Given the description of an element on the screen output the (x, y) to click on. 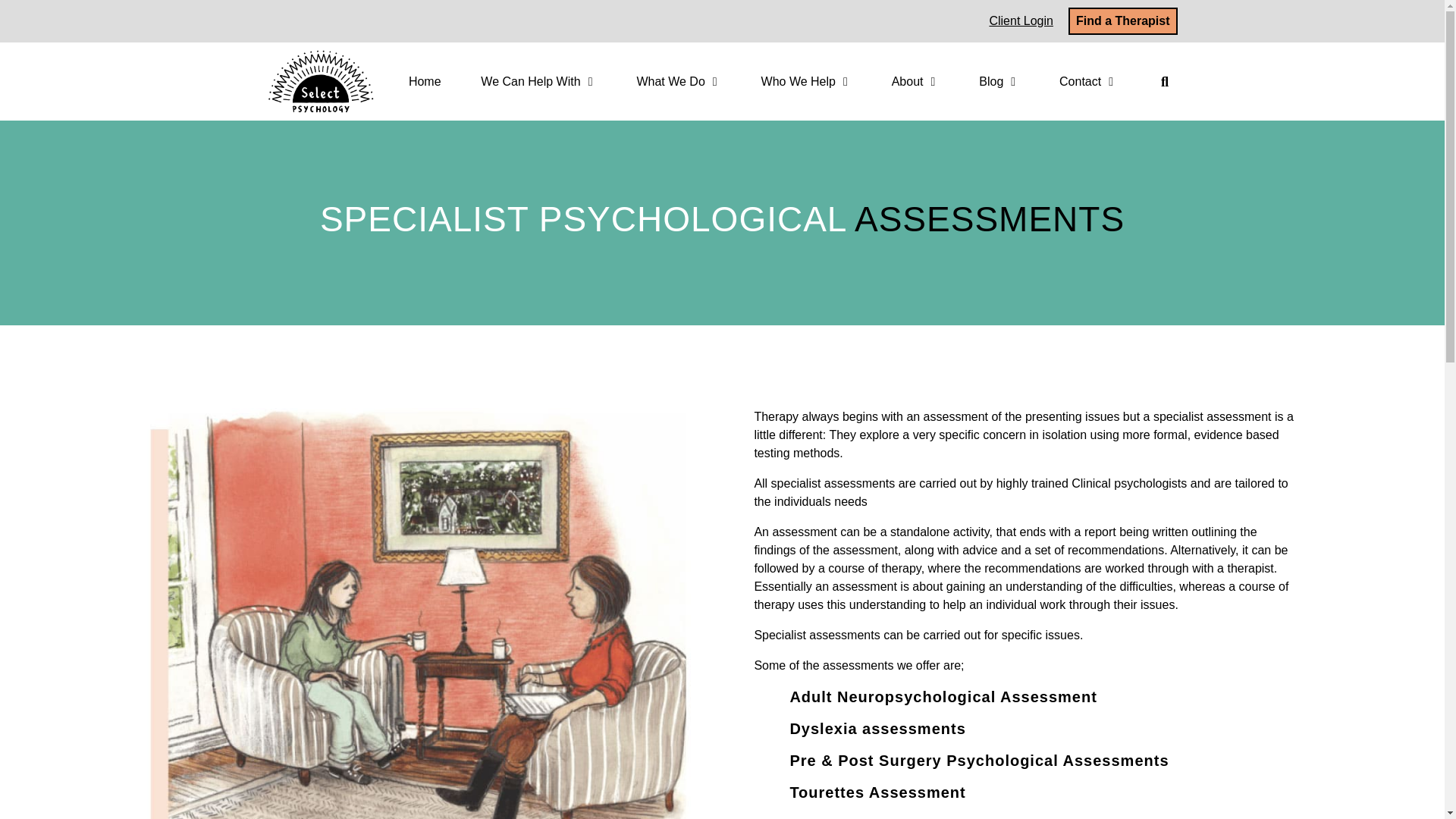
We Can Help With (529, 81)
Client Login (1020, 20)
Find a Therapist (1122, 21)
Contact (1079, 81)
About (907, 81)
Blog (990, 81)
What We Do (670, 81)
Home (425, 81)
Who We Help (798, 81)
